Given the description of an element on the screen output the (x, y) to click on. 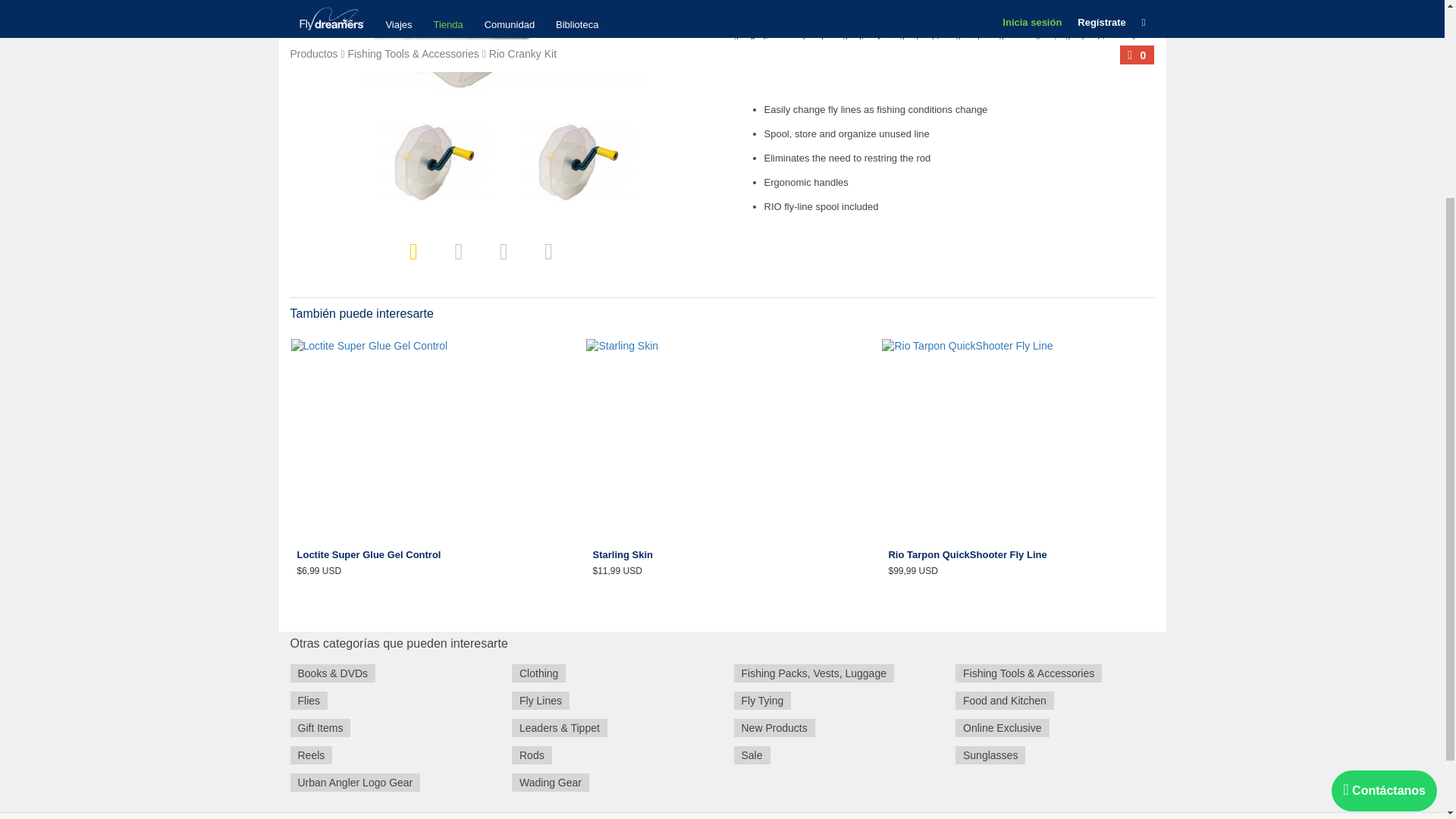
Loctite Super Glue Gel Control (426, 556)
Starling Skin (721, 556)
